Given the description of an element on the screen output the (x, y) to click on. 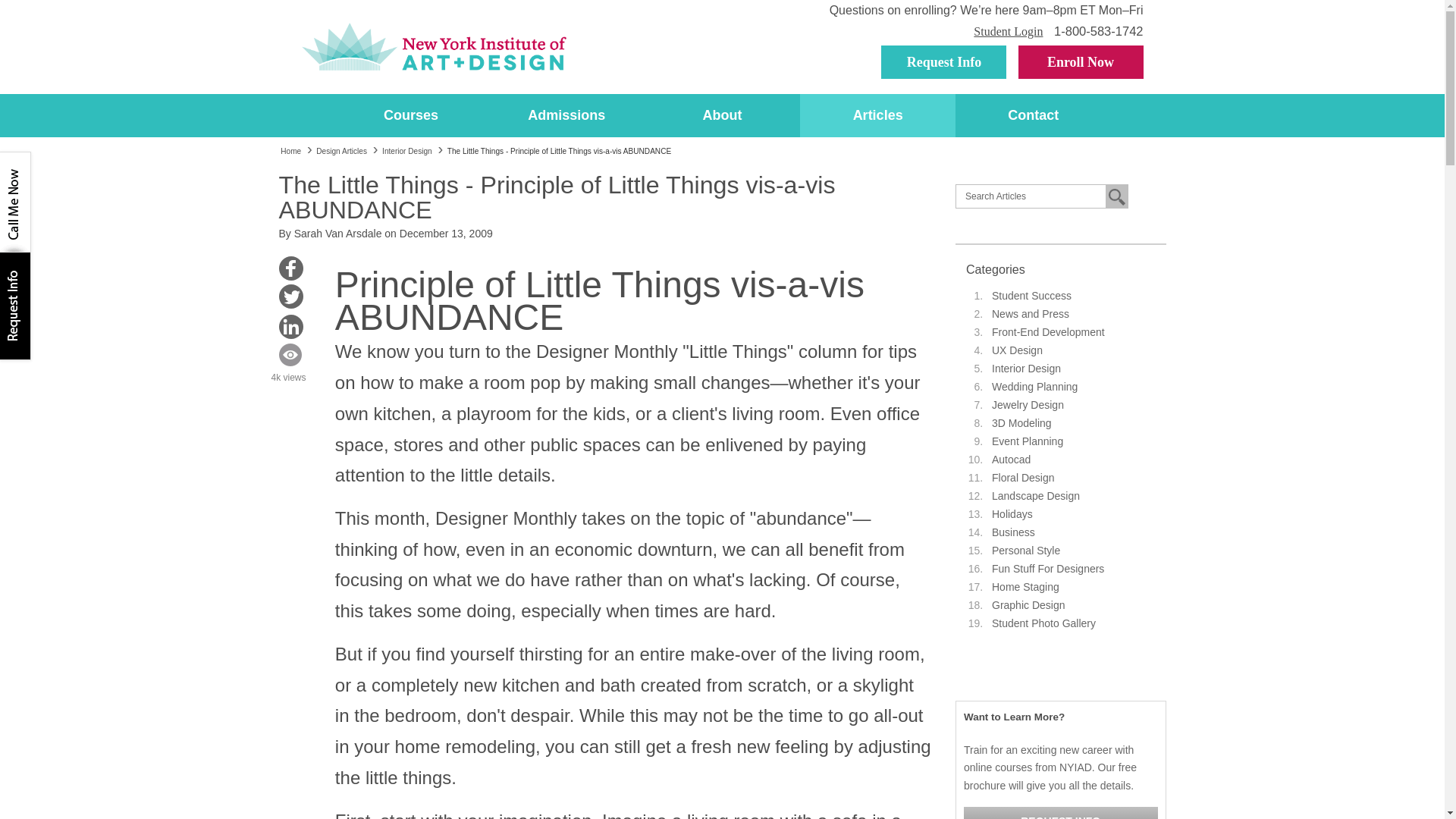
About (722, 115)
NYIP photo articles - Student Photo Gallery (1043, 623)
Articles (877, 115)
Student Login (1008, 31)
Enroll Now (1079, 61)
1-800-583-1742 (1098, 30)
Admissions (567, 115)
Request Info (943, 61)
Courses (411, 115)
New York Institute of Art and Design (433, 46)
